Given the description of an element on the screen output the (x, y) to click on. 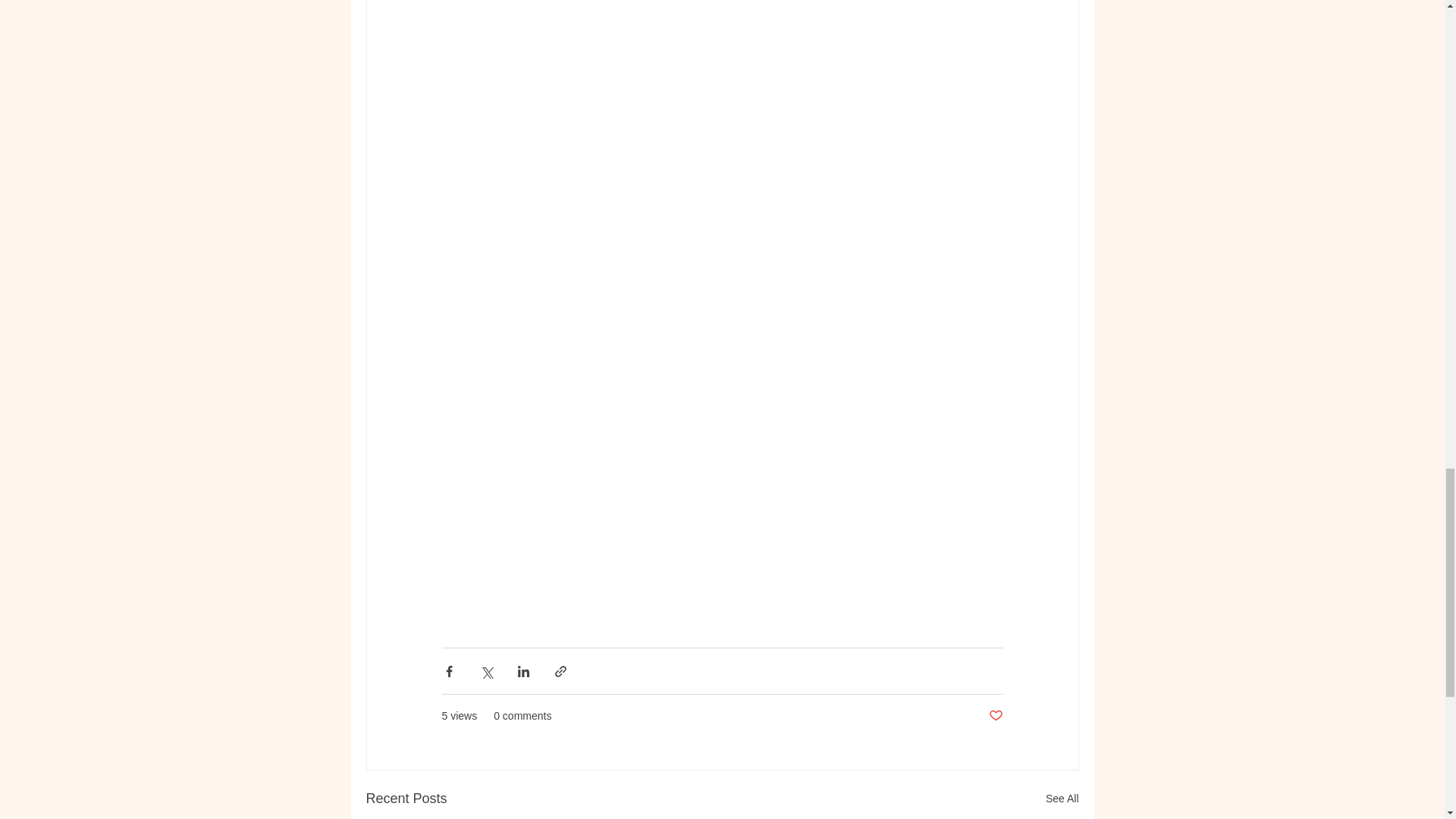
See All (1061, 798)
Post not marked as liked (995, 715)
